Given the description of an element on the screen output the (x, y) to click on. 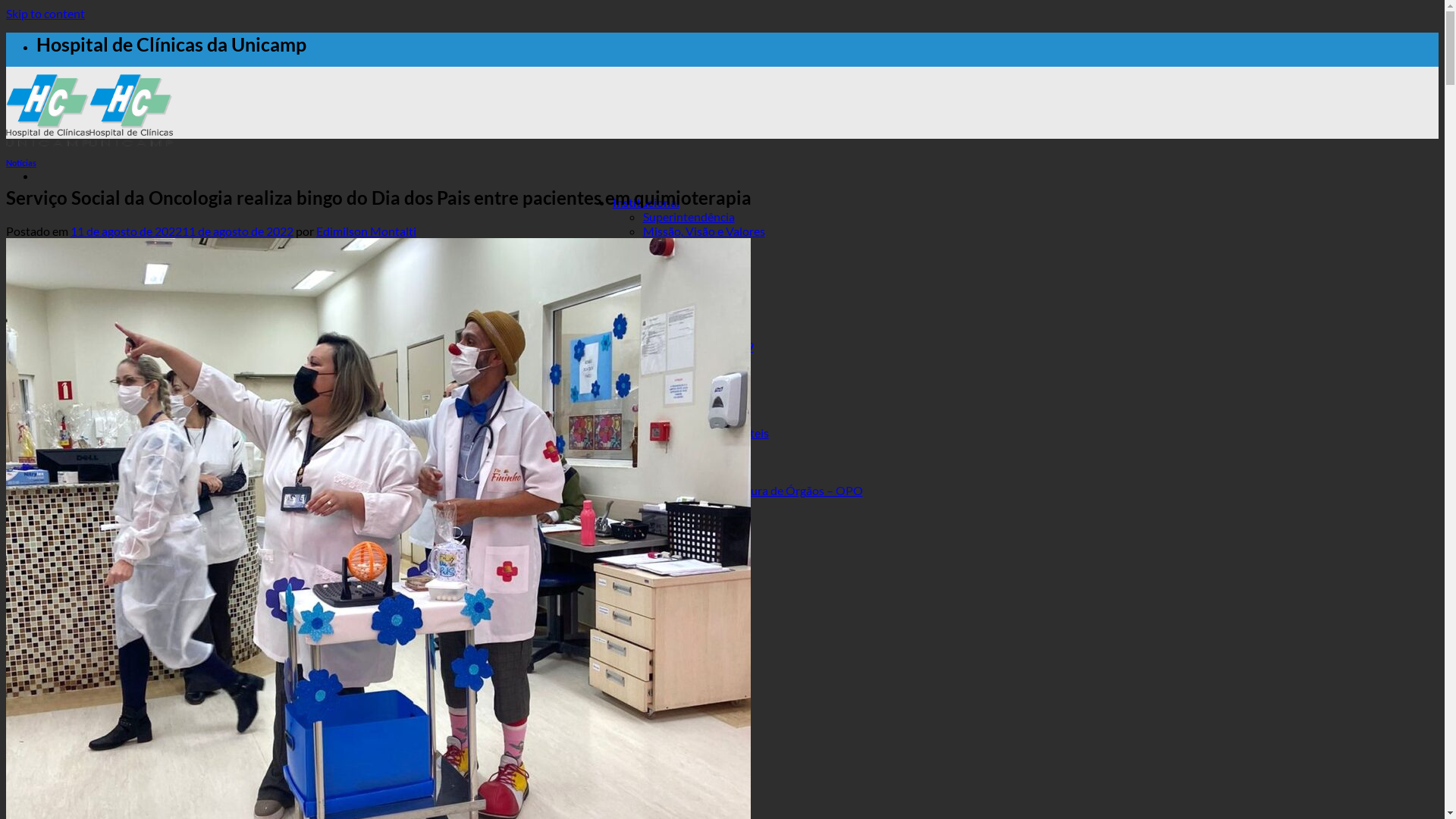
Newsletter Element type: text (672, 302)
Paciente Element type: text (636, 403)
Qualidade Element type: text (640, 533)
Ouvidoria Element type: text (669, 461)
Consultas e Exames Element type: text (694, 446)
Guideline Element type: text (668, 331)
Edimilson Montalti Element type: text (366, 230)
Banco de Imagens Element type: text (690, 317)
Logotipo Element type: text (666, 360)
Recursos Humanos Element type: text (663, 547)
Guideline COVID-19 Element type: text (698, 345)
11 de agosto de 202211 de agosto de 2022 Element type: text (181, 230)
Clipping Element type: text (665, 288)
Especialidades Element type: text (651, 518)
Imprensa Element type: text (637, 259)
Institucional Element type: text (645, 201)
Portal do Paciente Element type: text (691, 418)
Pesquisar Element type: text (42, 662)
Skip to content Element type: text (45, 13)
